Given the description of an element on the screen output the (x, y) to click on. 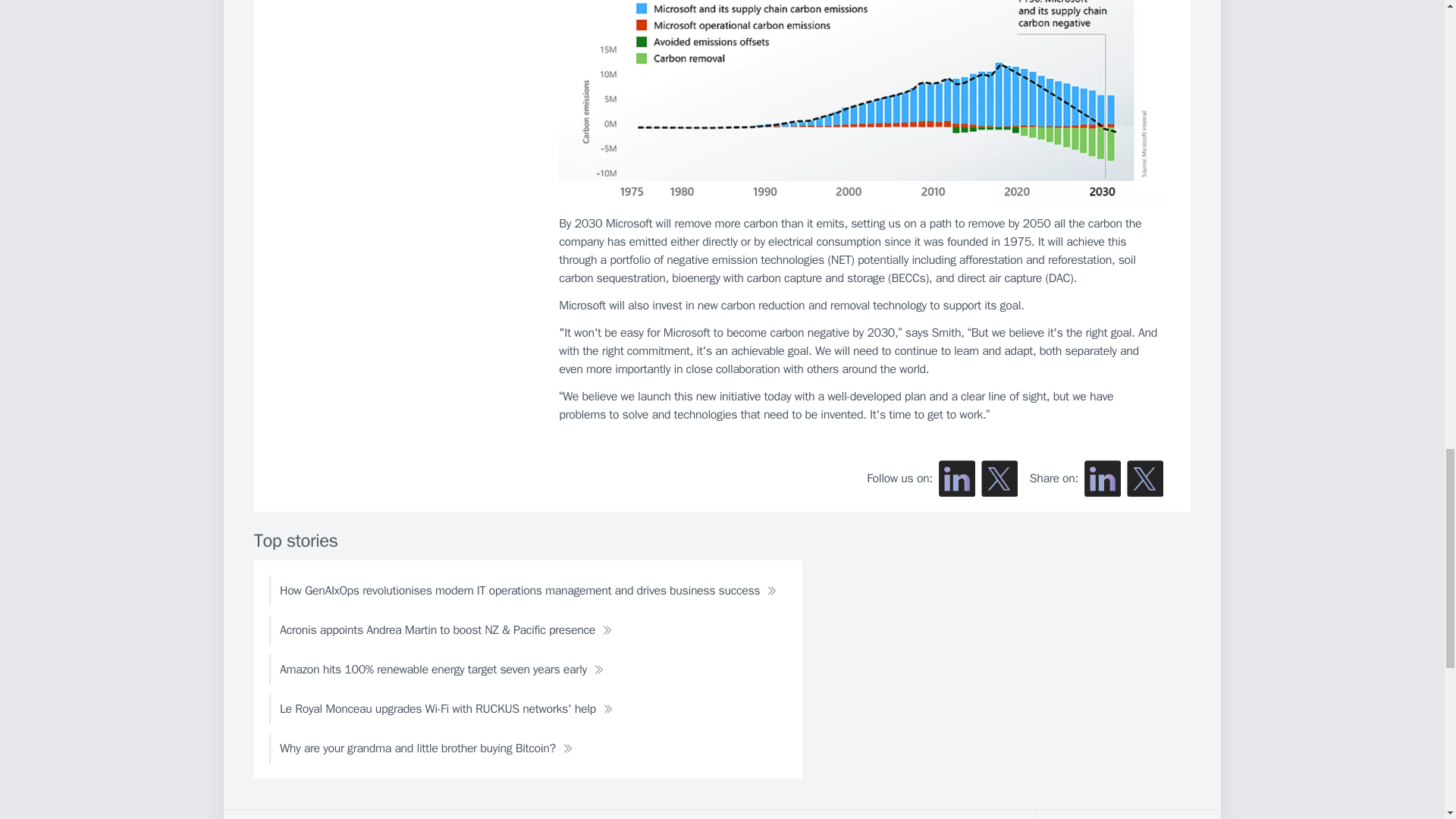
Why are your grandma and little brother buying Bitcoin? (426, 748)
Le Royal Monceau upgrades Wi-Fi with RUCKUS networks' help (446, 708)
